Given the description of an element on the screen output the (x, y) to click on. 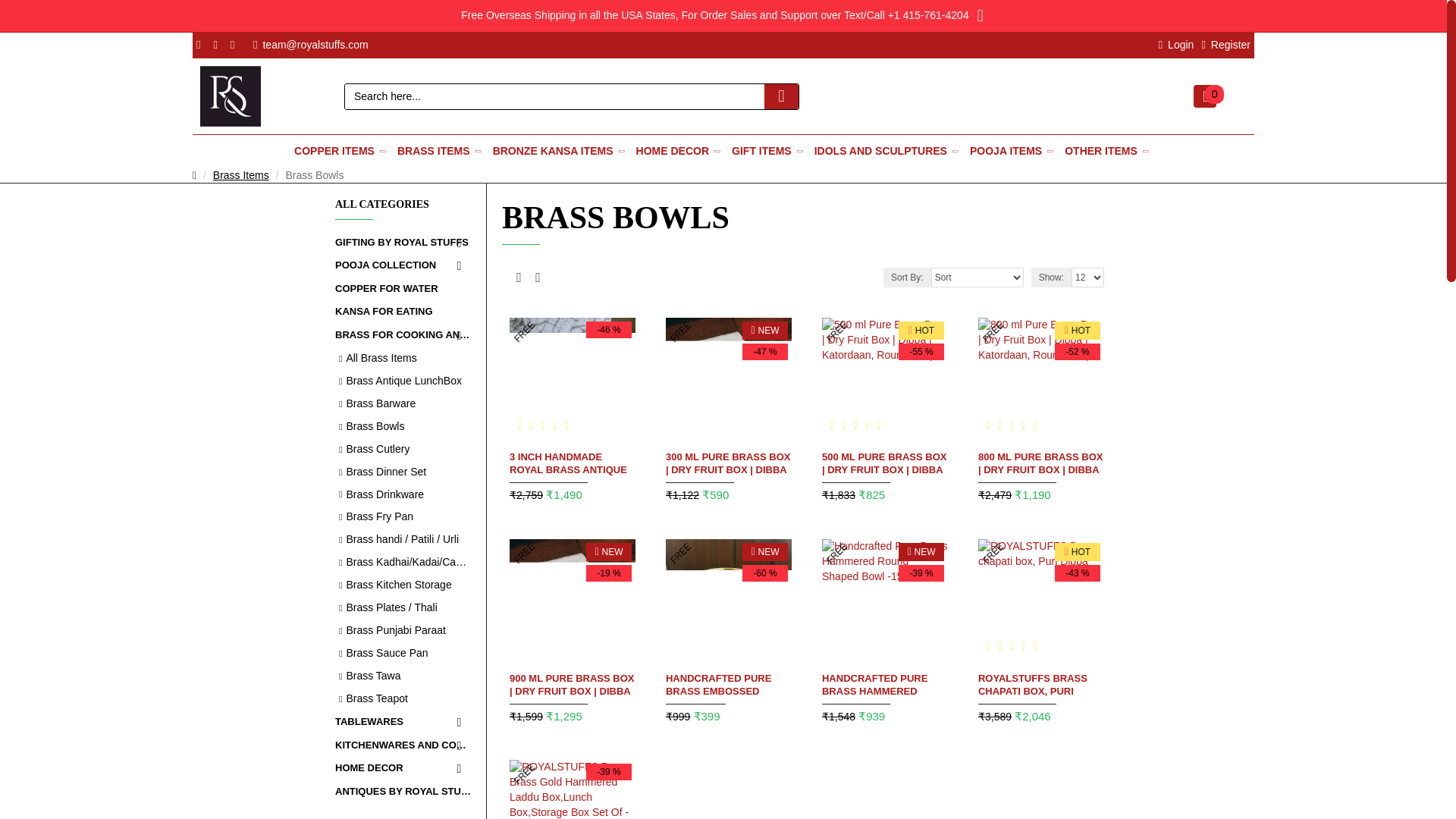
Register (1224, 44)
Login (1176, 44)
0 (1204, 96)
BRASS ITEMS (441, 151)
Grid (518, 277)
COPPER ITEMS (341, 151)
List (537, 277)
Royal Stuff (230, 96)
